Given the description of an element on the screen output the (x, y) to click on. 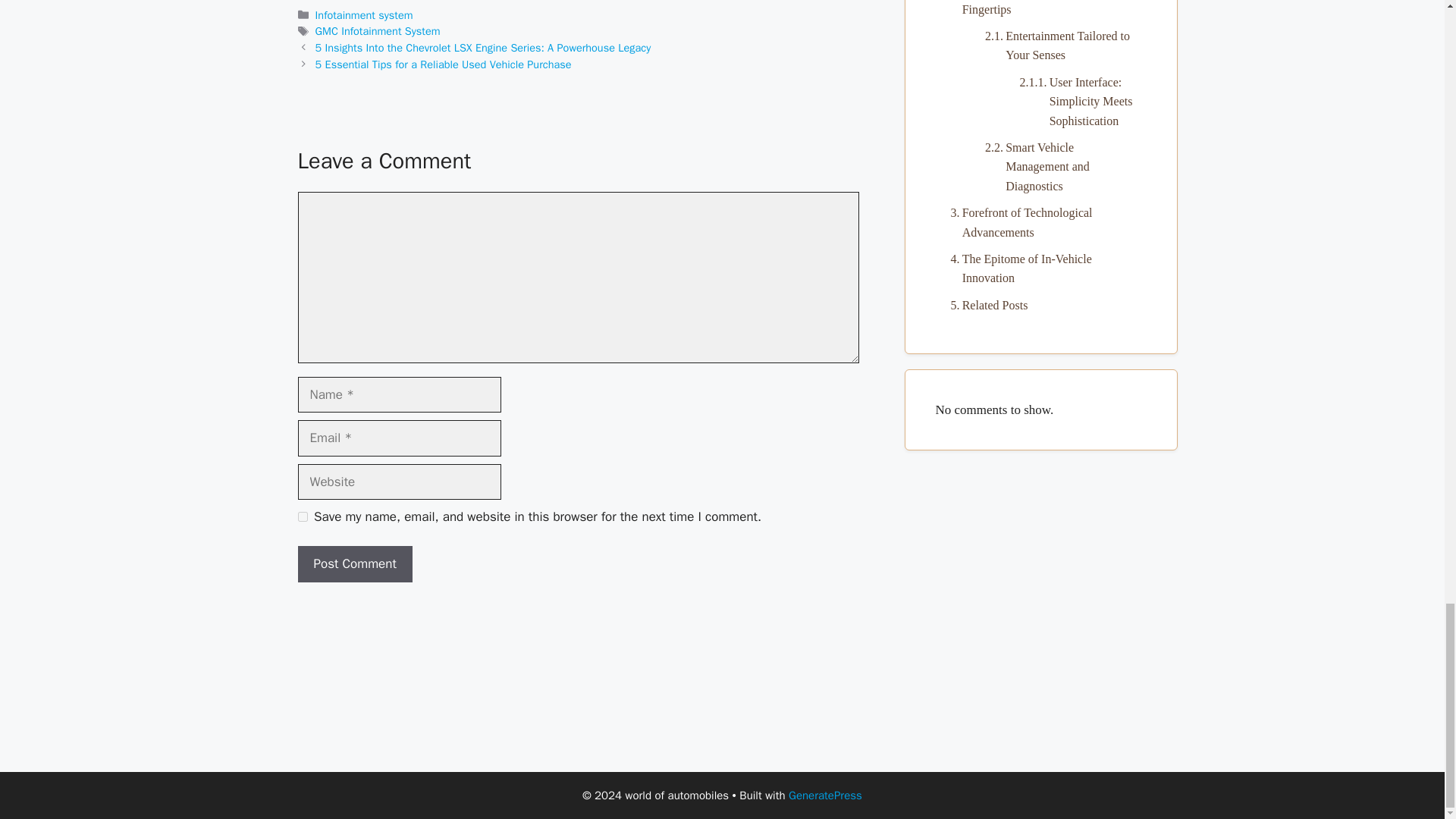
5 Essential Tips for a Reliable Used Vehicle Purchase (443, 64)
GMC Infotainment System (378, 30)
Smart Vehicle Management and Diagnostics (1057, 167)
Forefront of Technological Advancements (1040, 222)
The Epitome of In-Vehicle Innovation (1040, 268)
Entertainment Tailored to Your Senses (1057, 45)
Ultimate Connectivity at Your Fingertips (1040, 9)
Post Comment (354, 564)
yes (302, 516)
Infotainment system (364, 15)
Post Comment (354, 564)
User Interface: Simplicity Meets Sophistication (1074, 101)
